Given the description of an element on the screen output the (x, y) to click on. 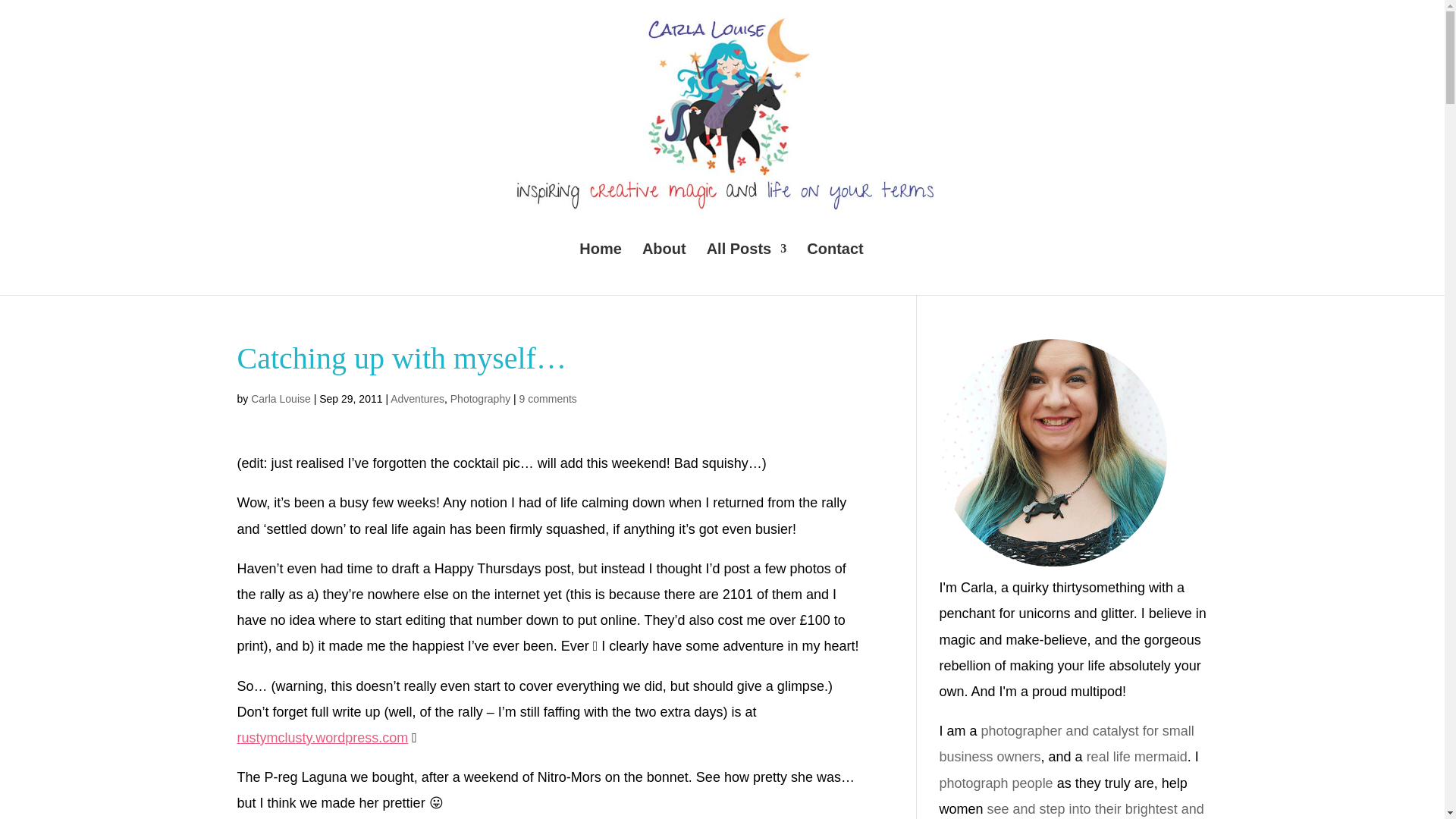
About (663, 268)
Adventures (417, 398)
9 comments (547, 398)
Home (600, 268)
Carla Louise (280, 398)
rustymclusty.wordpress.com (321, 737)
Contact (834, 268)
Posts by Carla Louise (280, 398)
Photography (480, 398)
All Posts (746, 268)
